Given the description of an element on the screen output the (x, y) to click on. 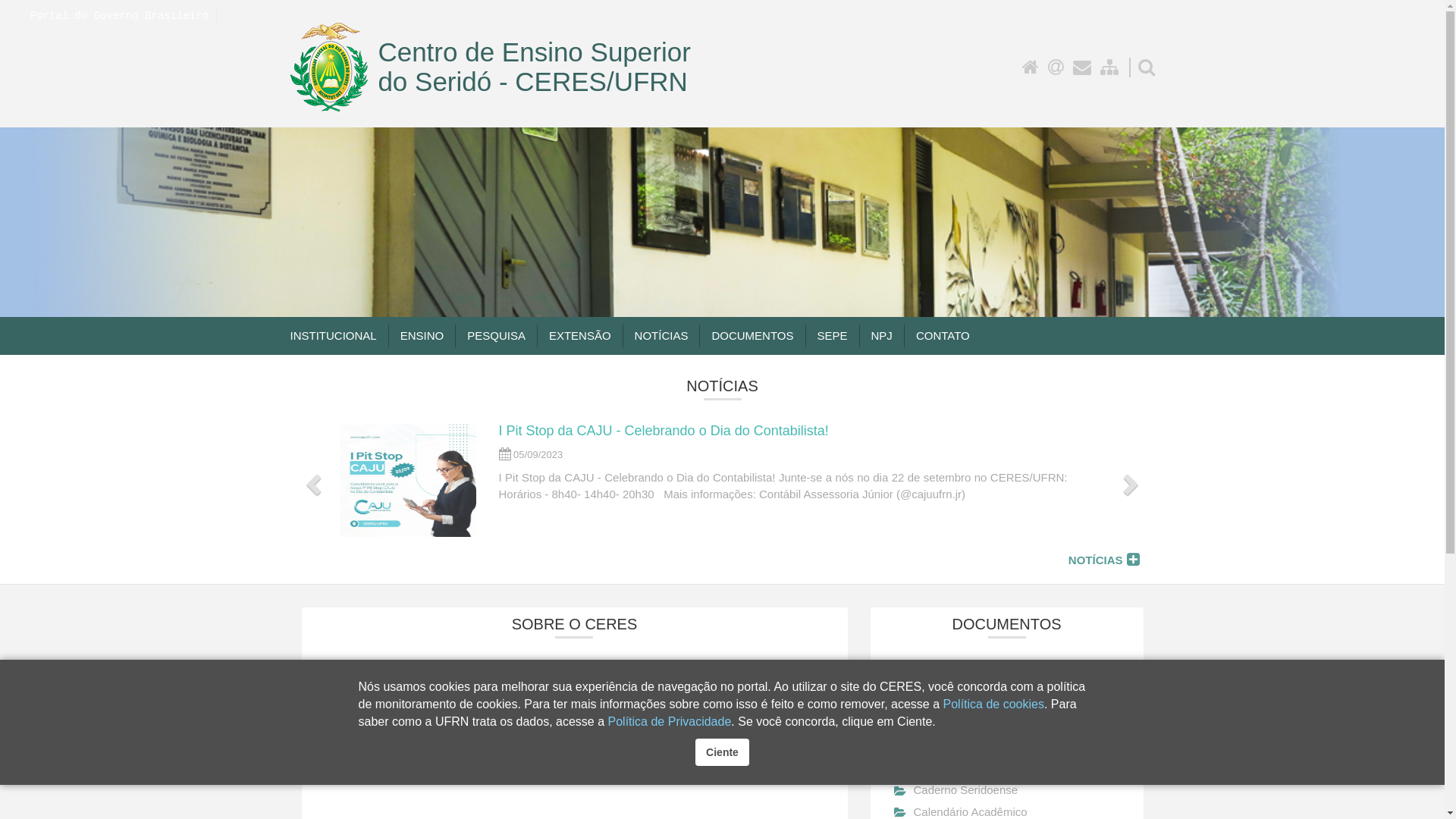
PESQUISA Element type: text (495, 335)
Portal do Governo Brasileiro Element type: text (119, 15)
Fale conosco Element type: hover (1082, 66)
05/09/2023 Element type: text (530, 454)
Caderno Seridoense Element type: text (955, 789)
Atas de Colegiados de Cursos Element type: text (979, 703)
INSTITUCIONAL Element type: text (332, 335)
Ciente Element type: text (722, 751)
DOCUMENTOS Element type: text (751, 335)
Atas do Conselho de Centro (CONSEC) Element type: text (1004, 768)
I Pit Stop da CAJU - Celebrando o Dia do Contabilista! Element type: text (663, 431)
Anterior Element type: text (310, 479)
Acessar o mapa do site Element type: hover (1109, 66)
SEPE Element type: text (832, 335)
Pesquisar Element type: hover (1145, 66)
NPJ Element type: text (881, 335)
ENSINO Element type: text (421, 335)
Acessar Webmail Element type: hover (1055, 66)
CONTATO Element type: text (942, 335)
